Given the description of an element on the screen output the (x, y) to click on. 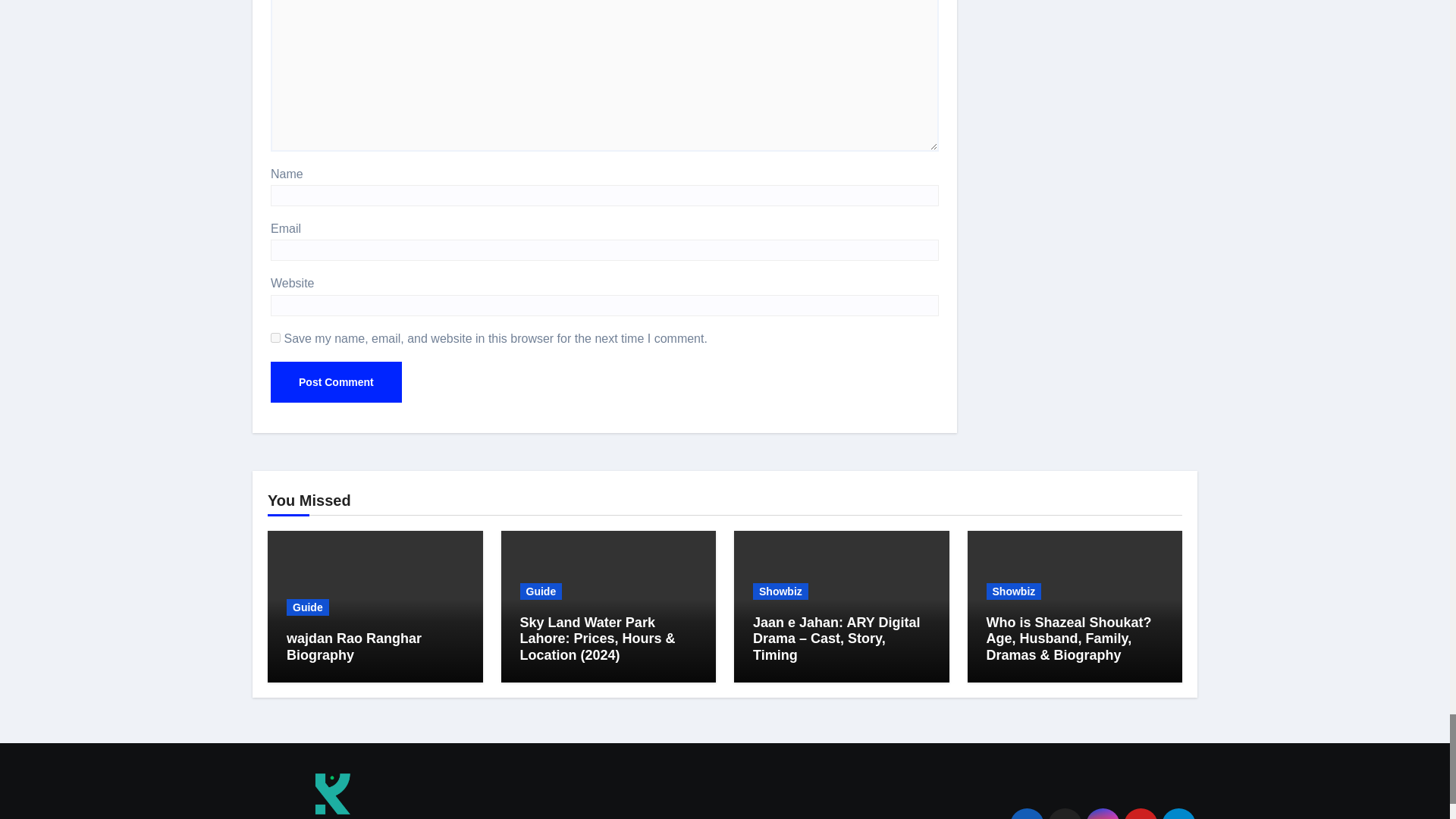
yes (275, 337)
Permalink to: wajdan Rao Ranghar Biography (354, 646)
Post Comment (335, 381)
